Given the description of an element on the screen output the (x, y) to click on. 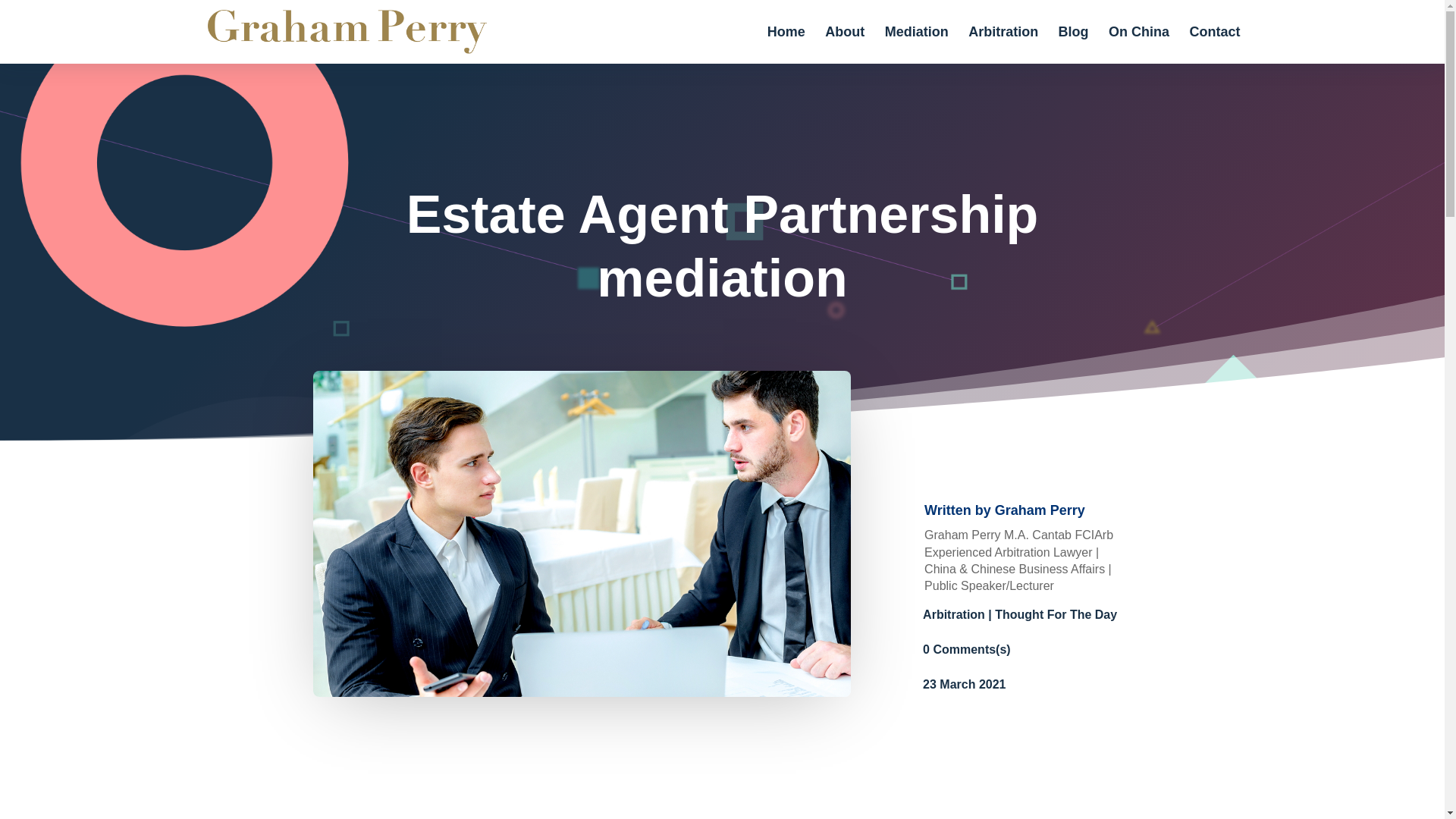
Home (786, 44)
Thought For The Day (1055, 614)
Mediation (917, 44)
About (844, 44)
On China (1138, 44)
Arbitration (954, 614)
Graham Perry (1039, 509)
Contact (1214, 44)
Arbitration (1003, 44)
